Given the description of an element on the screen output the (x, y) to click on. 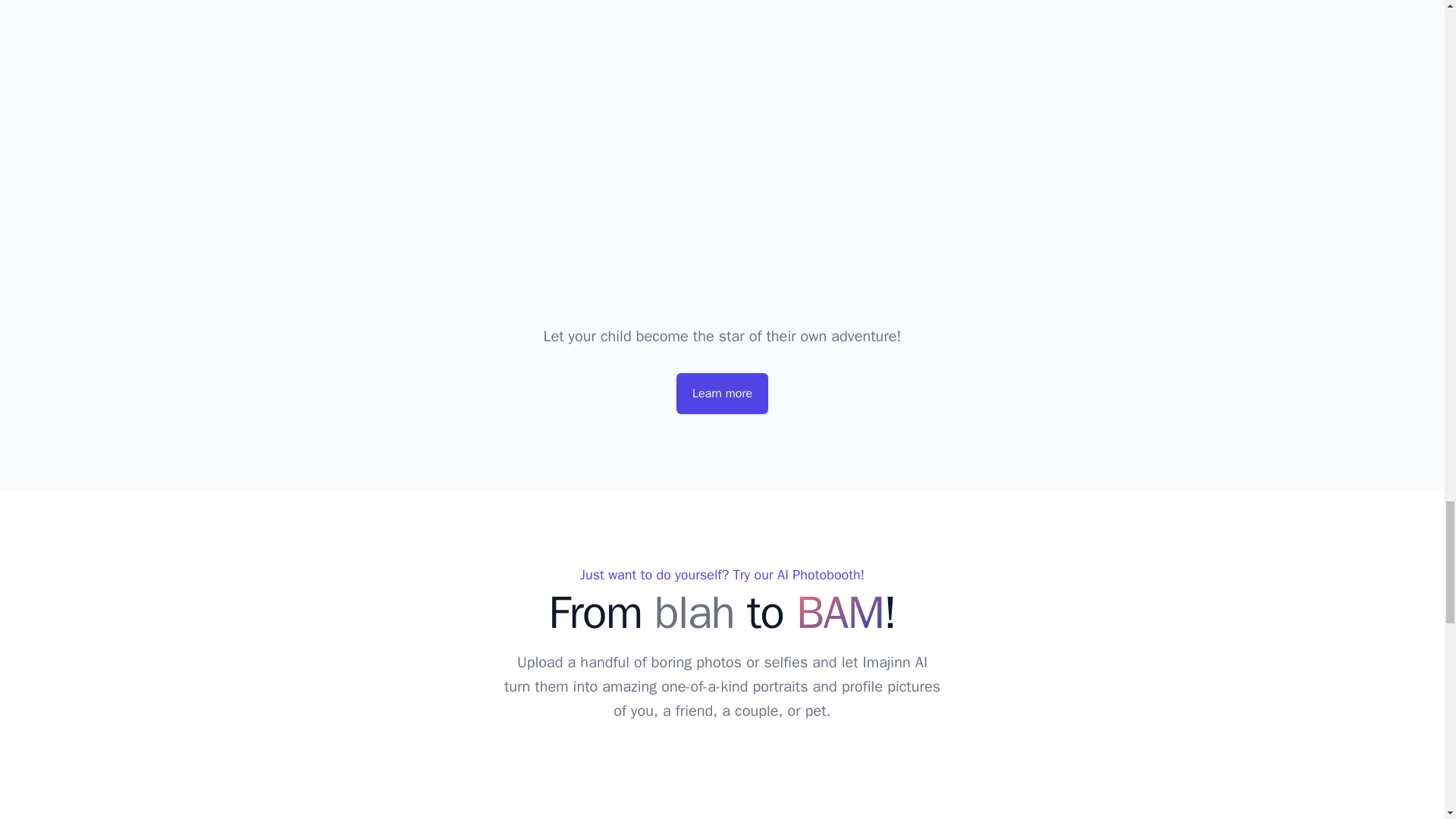
Learn more (722, 393)
